Given the description of an element on the screen output the (x, y) to click on. 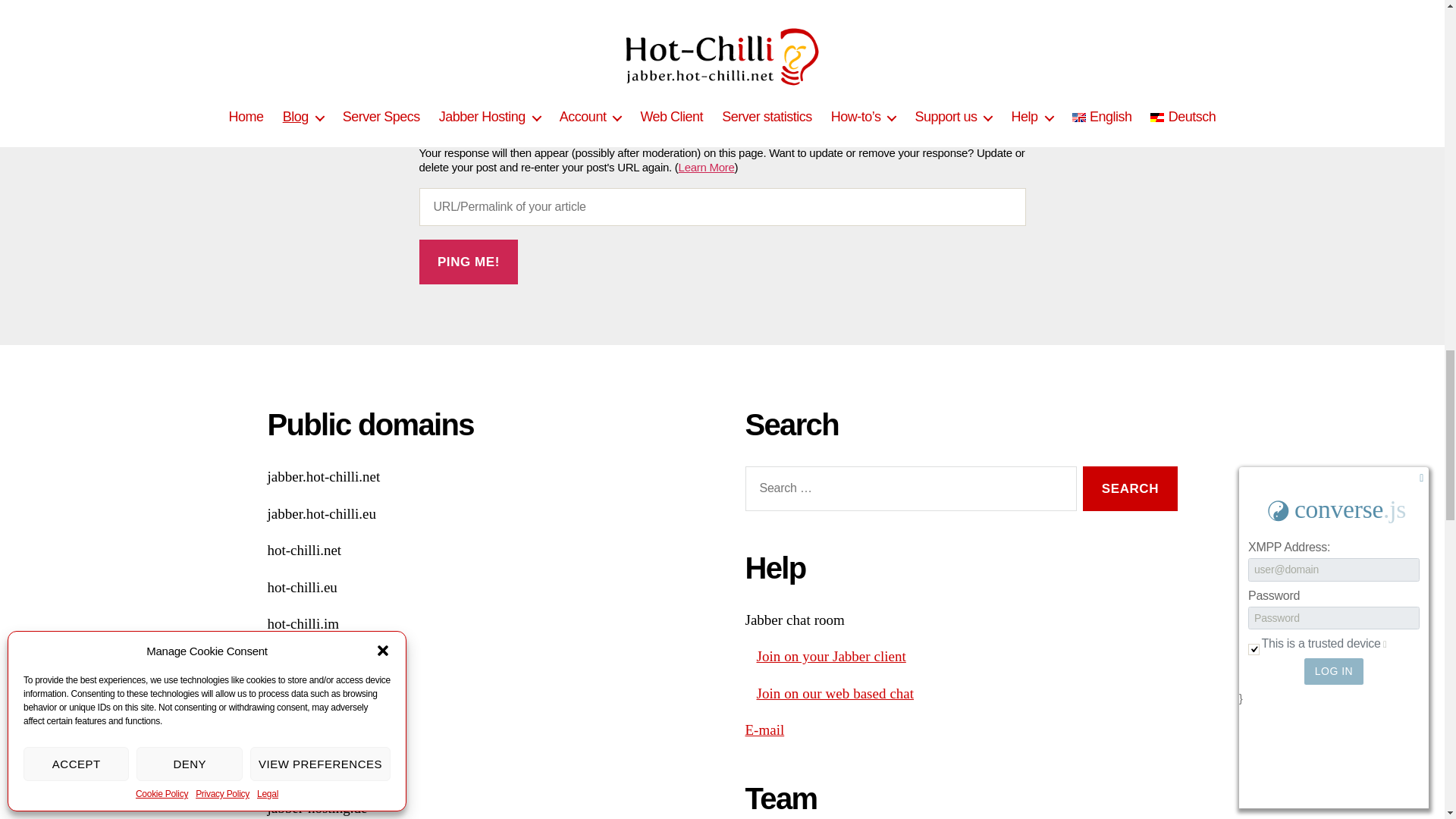
yes (424, 13)
Ping me! (468, 261)
Search (1129, 488)
Search (1129, 488)
Post Comment (492, 77)
